Given the description of an element on the screen output the (x, y) to click on. 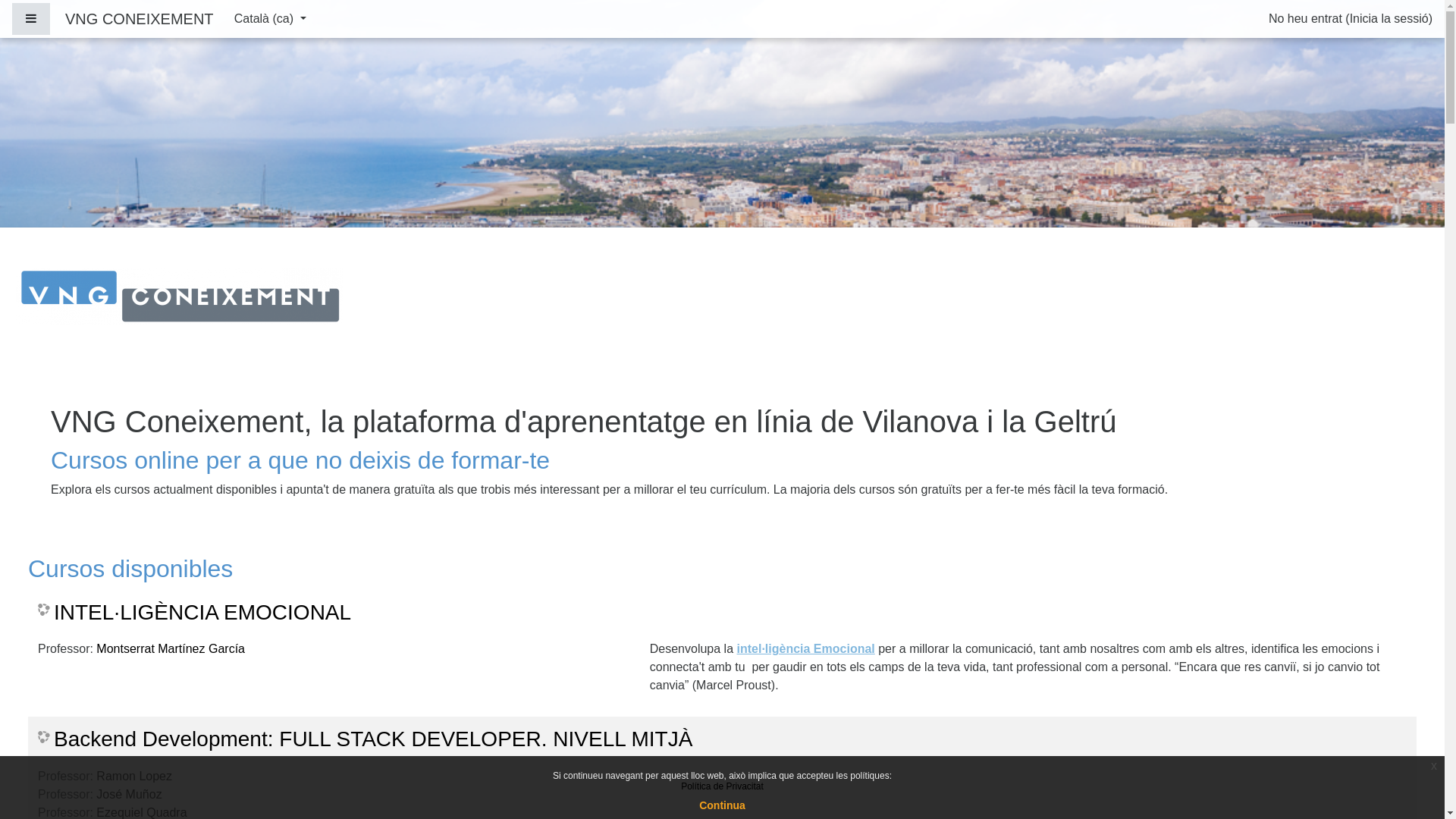
VNG CONEIXEMENT Element type: text (139, 18)
x Element type: text (1433, 765)
Continua Element type: text (722, 805)
Ramon Lopez Element type: text (134, 775)
Panell lateral Element type: text (31, 18)
